Given the description of an element on the screen output the (x, y) to click on. 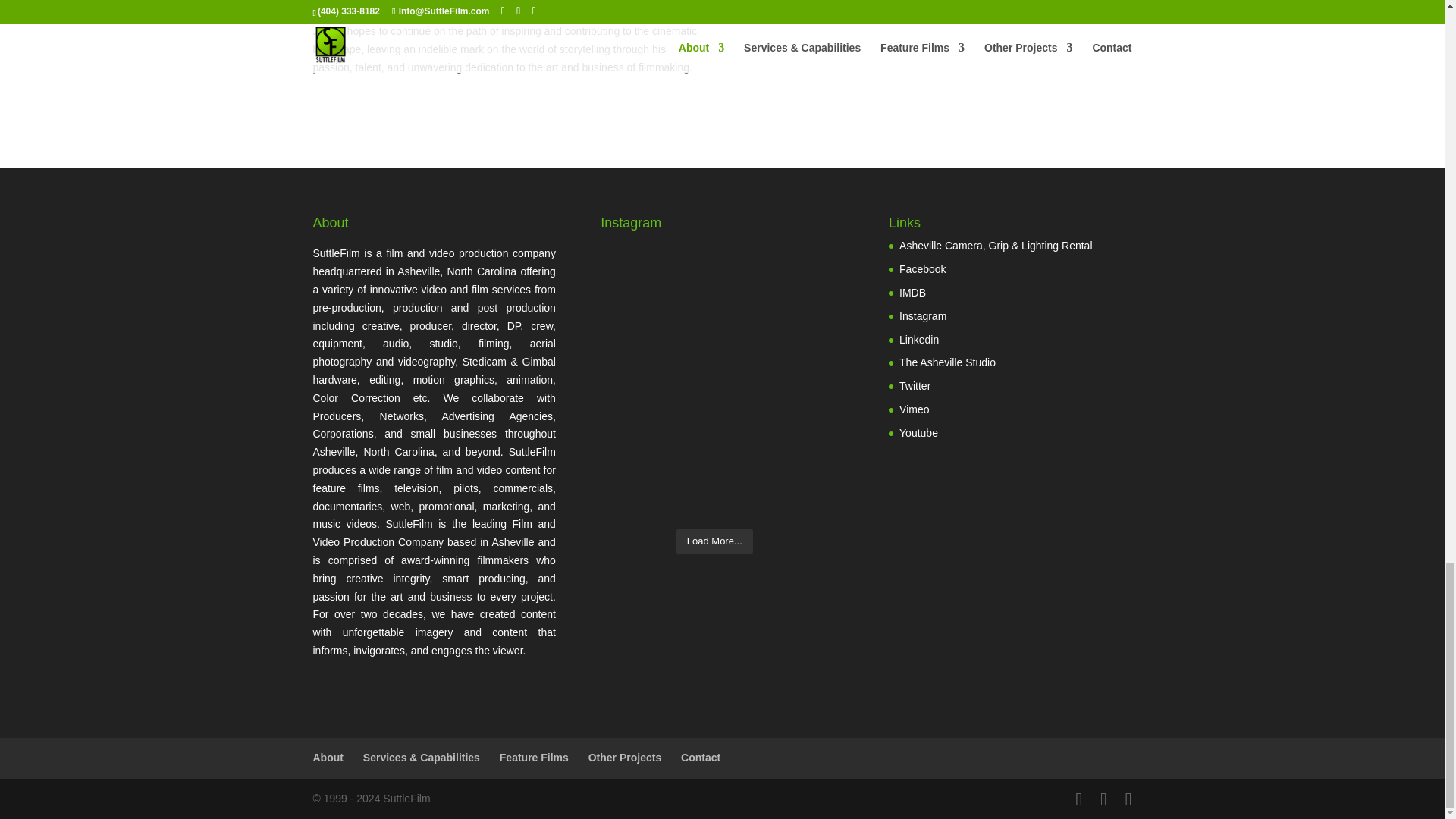
suttlefilm on Instagram (922, 316)
Suttlefilm on Facebook (921, 268)
Suttlefilm on Linkedin (919, 339)
James Suttles on IMDB (912, 292)
Suttlefilm on Vimeo (913, 409)
James Suttles Twitter Feed (914, 386)
Suttlefilm on Youtube (918, 432)
